Given the description of an element on the screen output the (x, y) to click on. 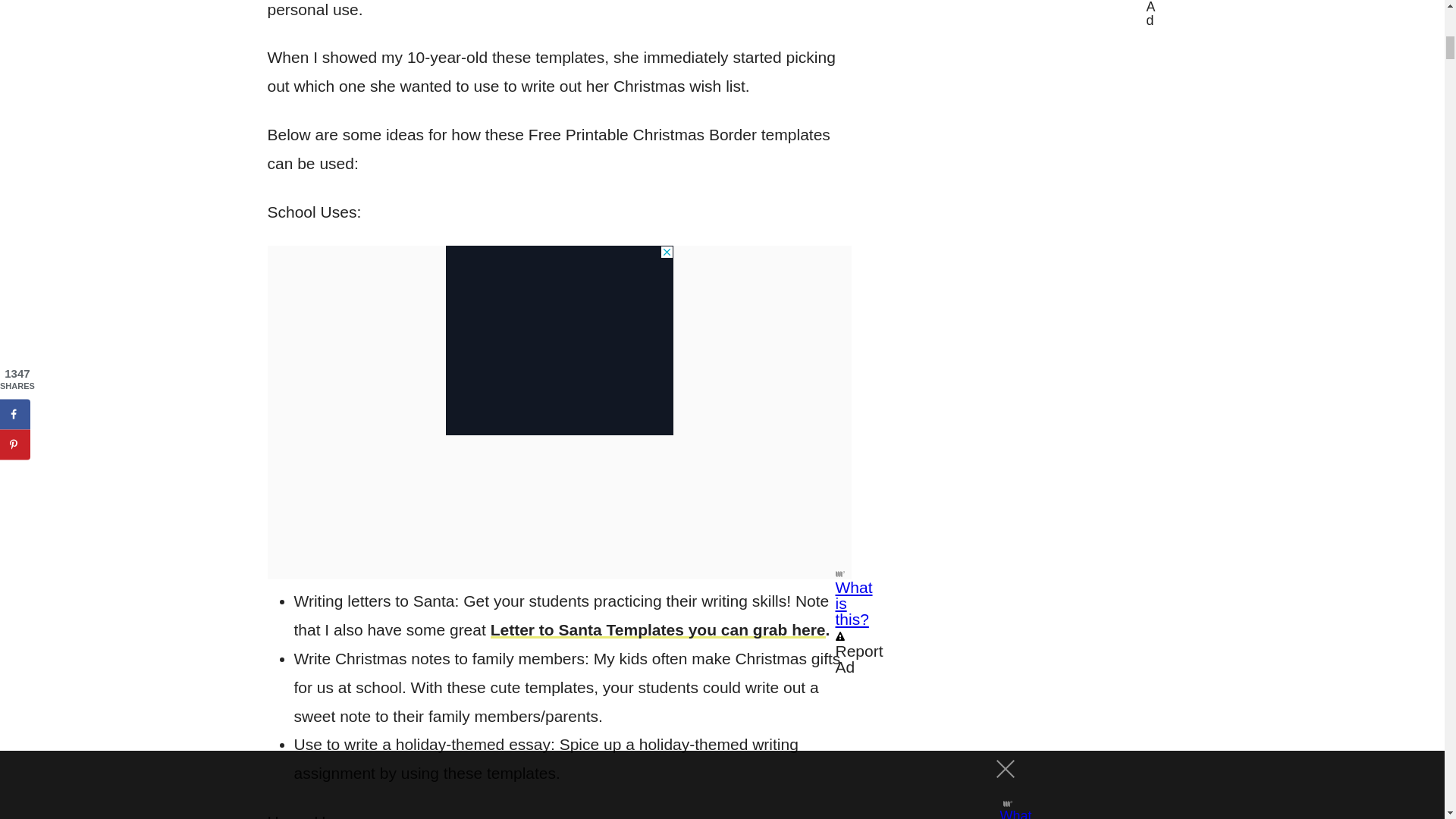
3rd party ad content (558, 339)
